Given the description of an element on the screen output the (x, y) to click on. 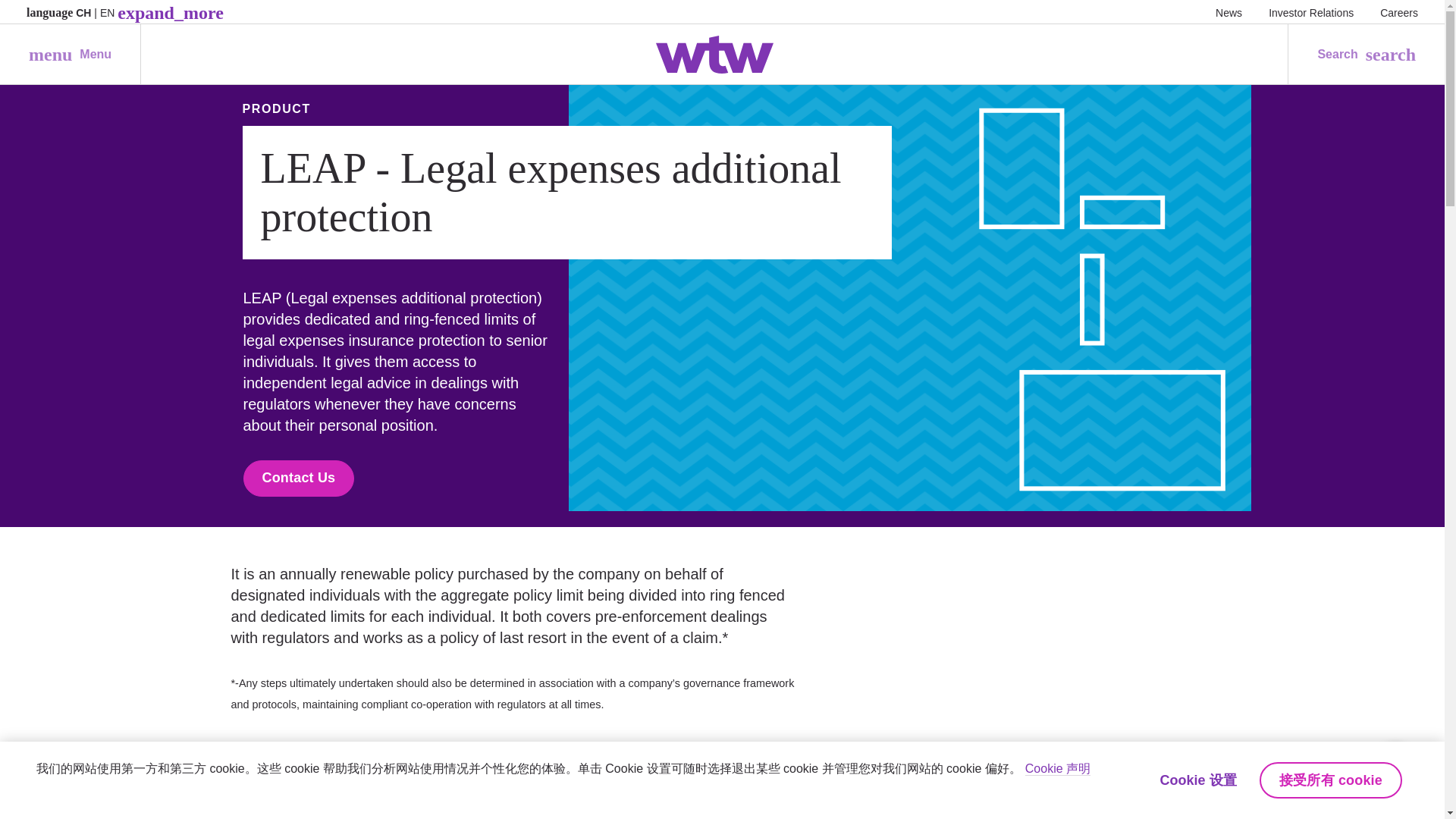
News (69, 54)
Careers (1228, 12)
Investor Relations (1399, 12)
